Given the description of an element on the screen output the (x, y) to click on. 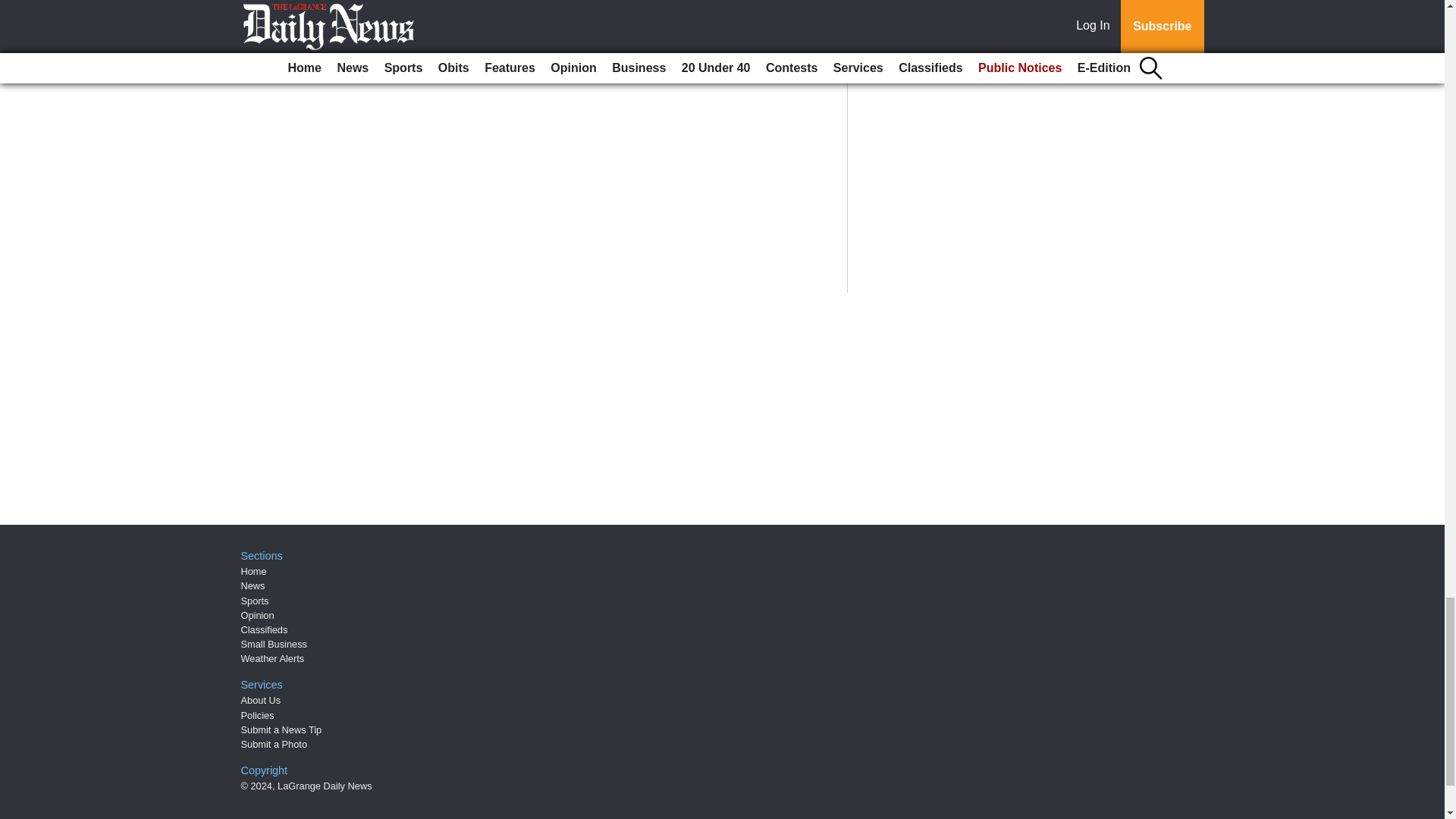
News (252, 585)
Home (253, 571)
Sports (255, 600)
